Given the description of an element on the screen output the (x, y) to click on. 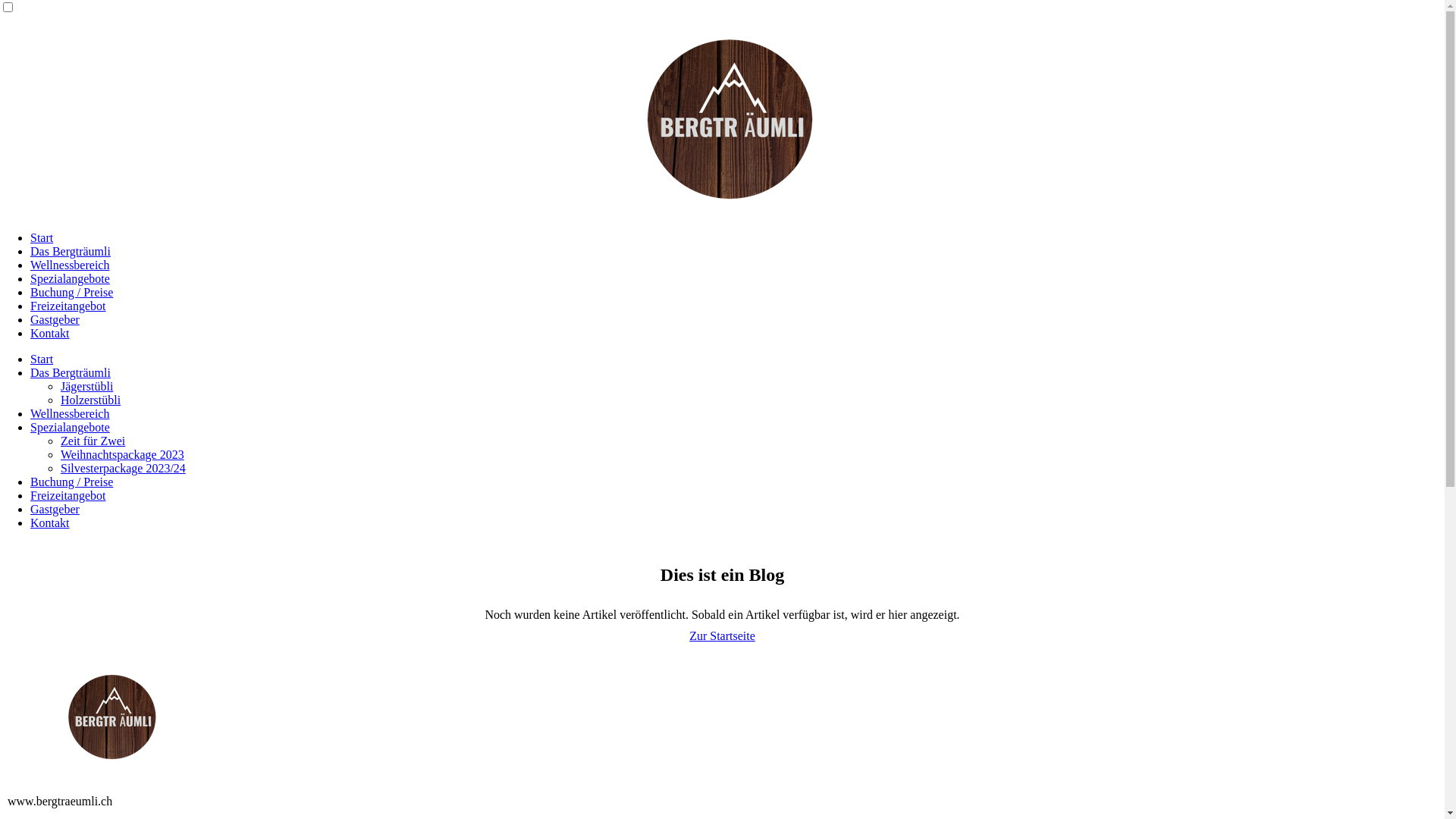
Wellnessbereich Element type: text (69, 264)
Silvesterpackage 2023/24 Element type: text (122, 467)
Buchung / Preise Element type: text (71, 291)
Start Element type: text (41, 358)
Freizeitangebot Element type: text (68, 305)
Gastgeber Element type: text (54, 319)
Wellnessbereich Element type: text (69, 413)
Weihnachtspackage 2023 Element type: text (122, 454)
Zur Startseite Element type: text (722, 635)
Freizeitangebot Element type: text (68, 495)
Buchung / Preise Element type: text (71, 481)
Gastgeber Element type: text (54, 508)
Start Element type: text (41, 237)
Spezialangebote Element type: text (69, 426)
Kontakt Element type: text (49, 522)
Kontakt Element type: text (49, 332)
Spezialangebote Element type: text (69, 278)
